Given the description of an element on the screen output the (x, y) to click on. 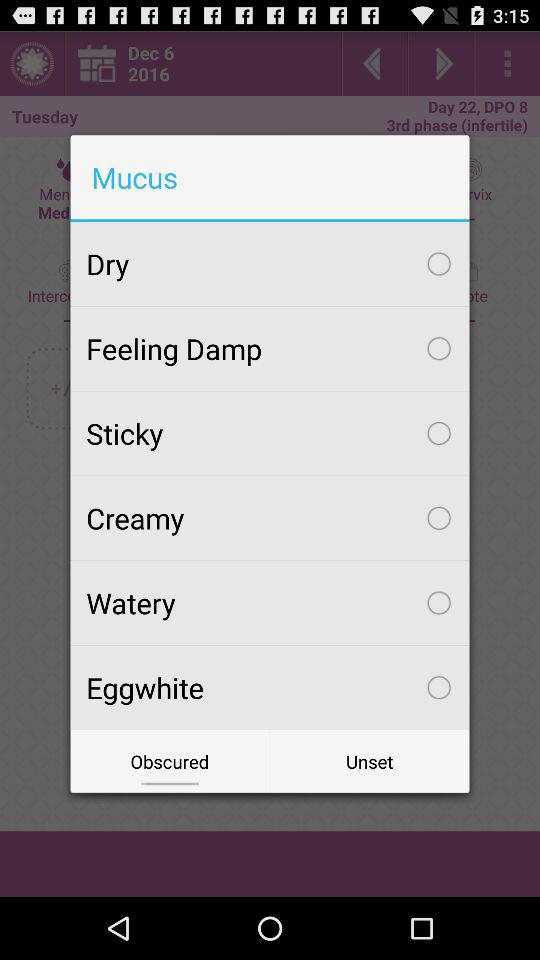
open the creamy (269, 518)
